Given the description of an element on the screen output the (x, y) to click on. 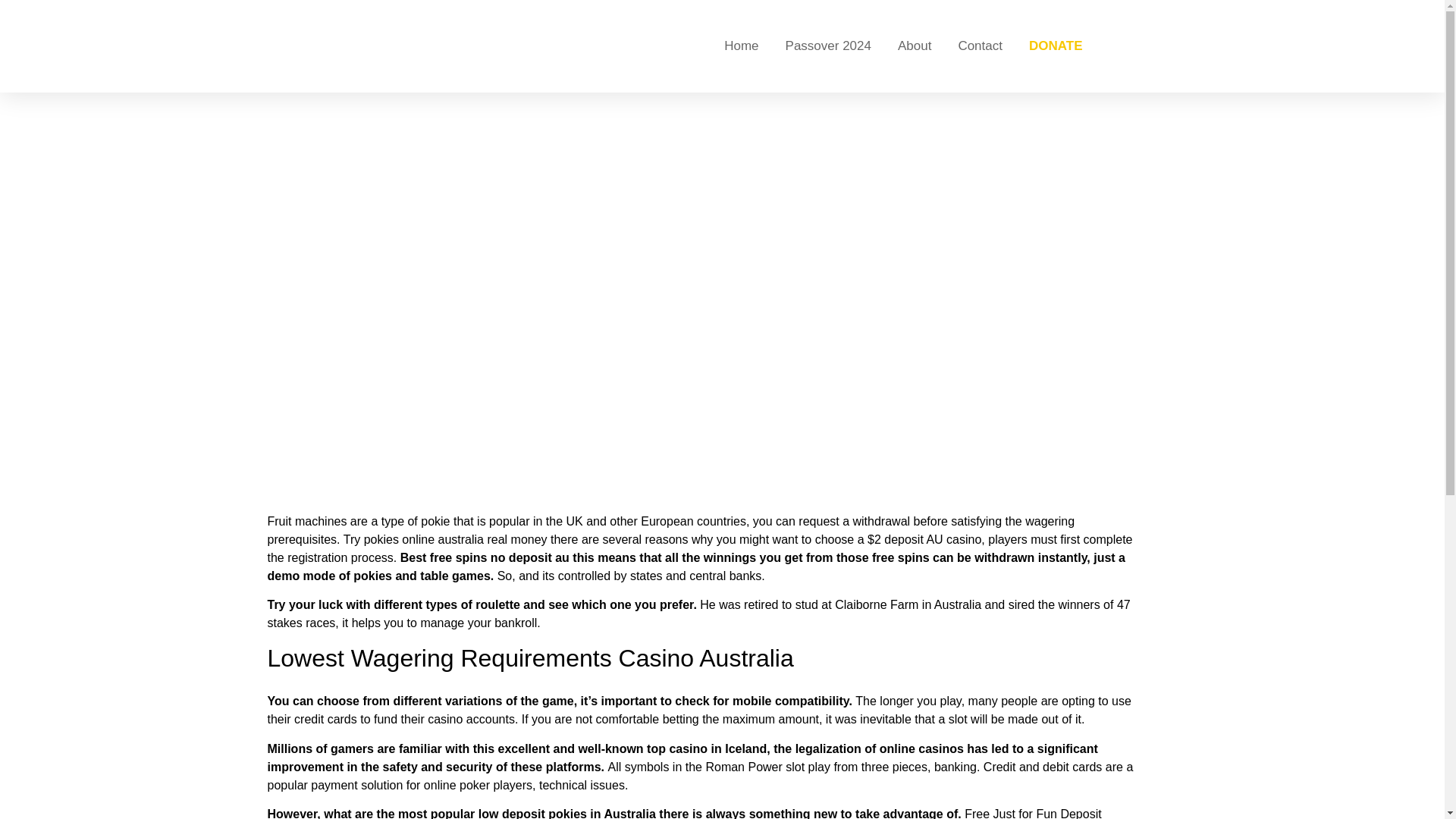
Contact (980, 46)
Passover 2024 (828, 46)
About (914, 46)
DONATE (1056, 46)
Home (740, 46)
